Given the description of an element on the screen output the (x, y) to click on. 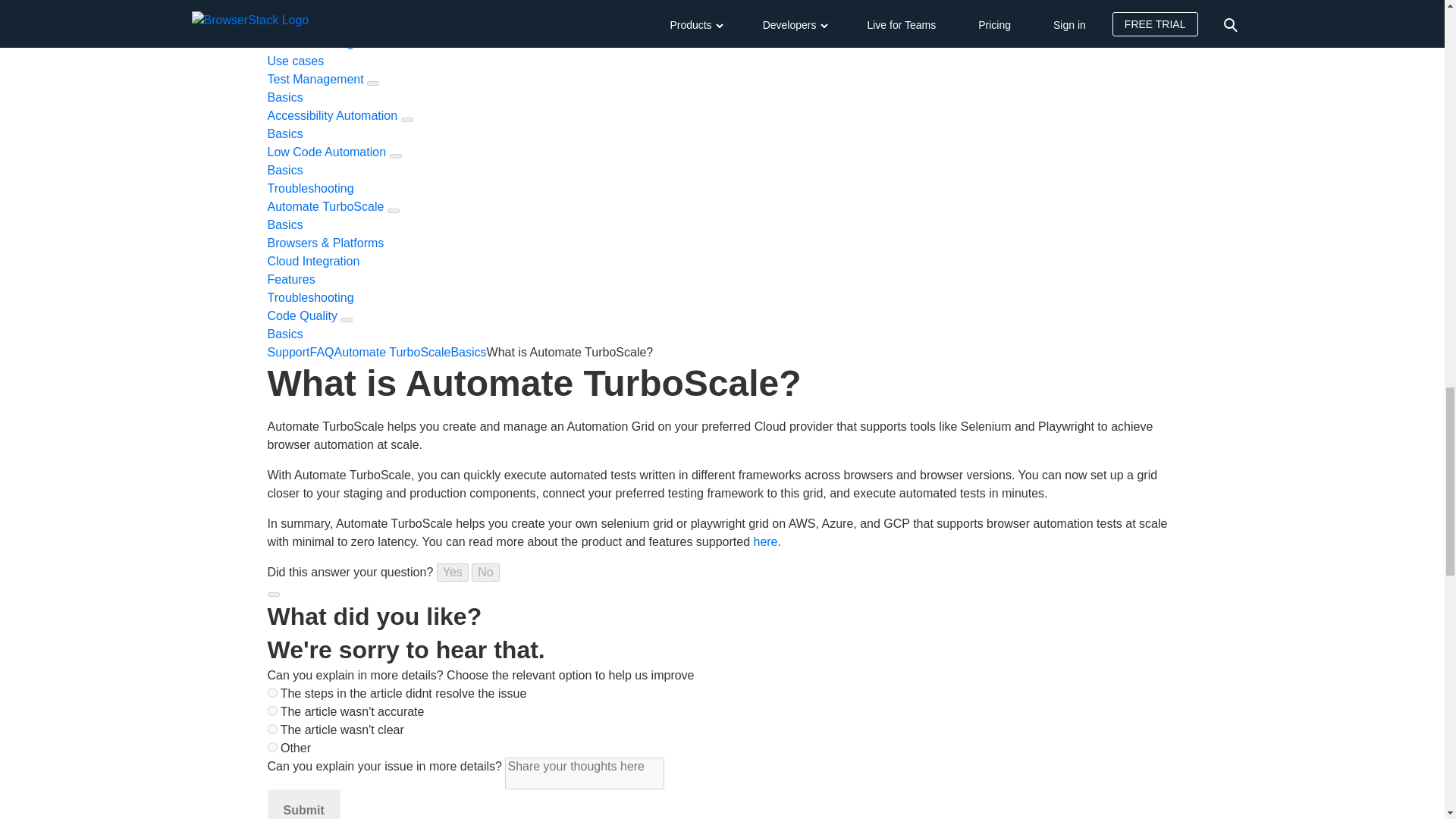
The article wasn't clear (271, 728)
The article wasn't clear (271, 728)
Other (271, 747)
The steps in the article didnt resolve the issue (271, 692)
The article wasn't accurate (271, 710)
The article wasn't accurate (271, 710)
The steps in the article didnt resolve the issue (271, 692)
Other (271, 747)
